Given the description of an element on the screen output the (x, y) to click on. 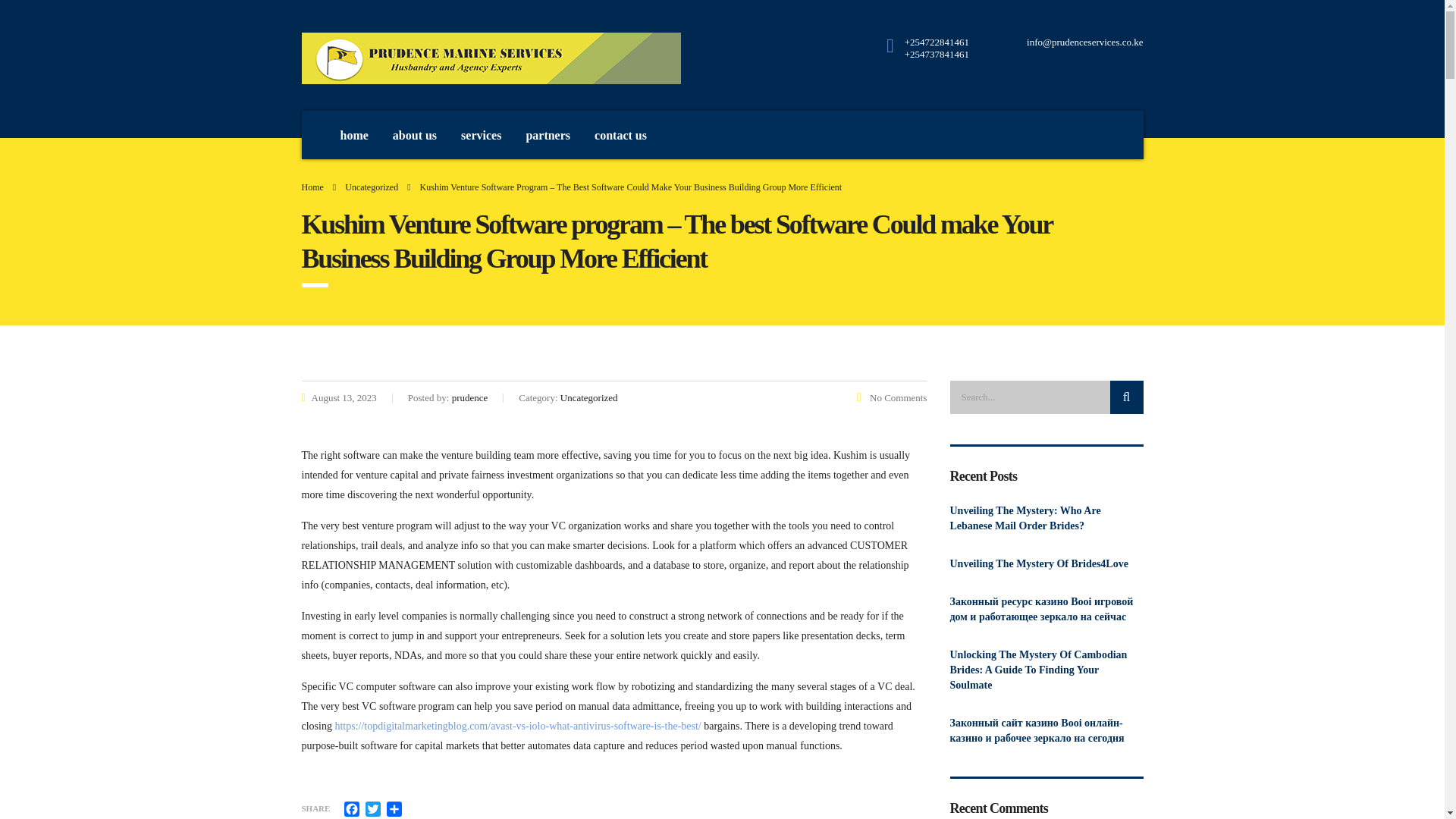
Twitter (373, 808)
contact us (620, 134)
Share (394, 808)
Facebook (351, 808)
Go to the Uncategorized category archives. (371, 186)
home (353, 134)
No Comments (892, 397)
Home (312, 186)
Unveiling The Mystery Of Brides4Love (1045, 563)
Go to Prudence Marine Services. (312, 186)
Uncategorized (371, 186)
Facebook (351, 808)
services (480, 134)
about us (414, 134)
